Given the description of an element on the screen output the (x, y) to click on. 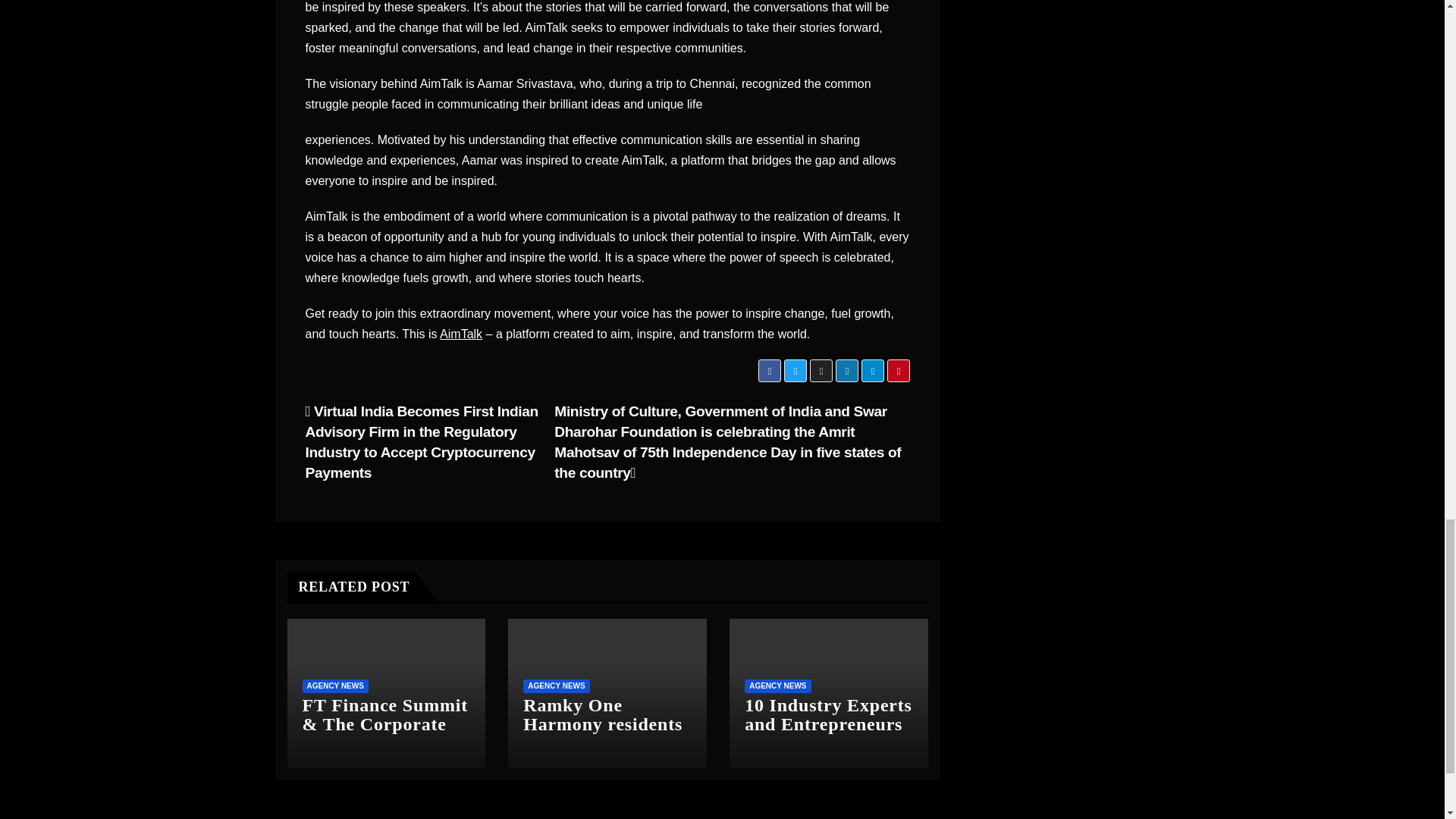
AGENCY NEWS (777, 685)
AGENCY NEWS (555, 685)
AGENCY NEWS (334, 685)
AimTalk (460, 333)
